Given the description of an element on the screen output the (x, y) to click on. 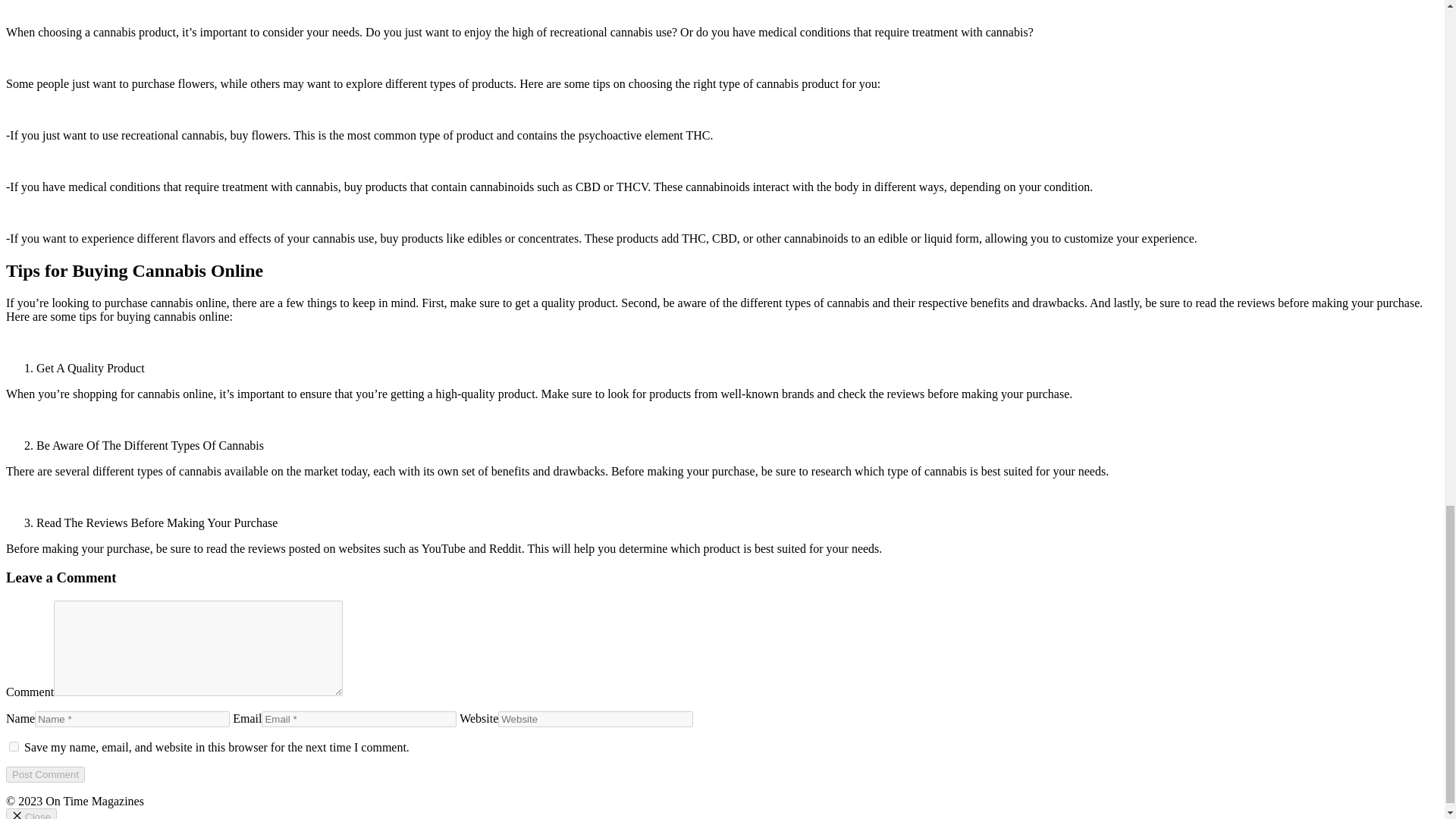
yes (13, 746)
Post Comment (44, 774)
Post Comment (44, 774)
